Given the description of an element on the screen output the (x, y) to click on. 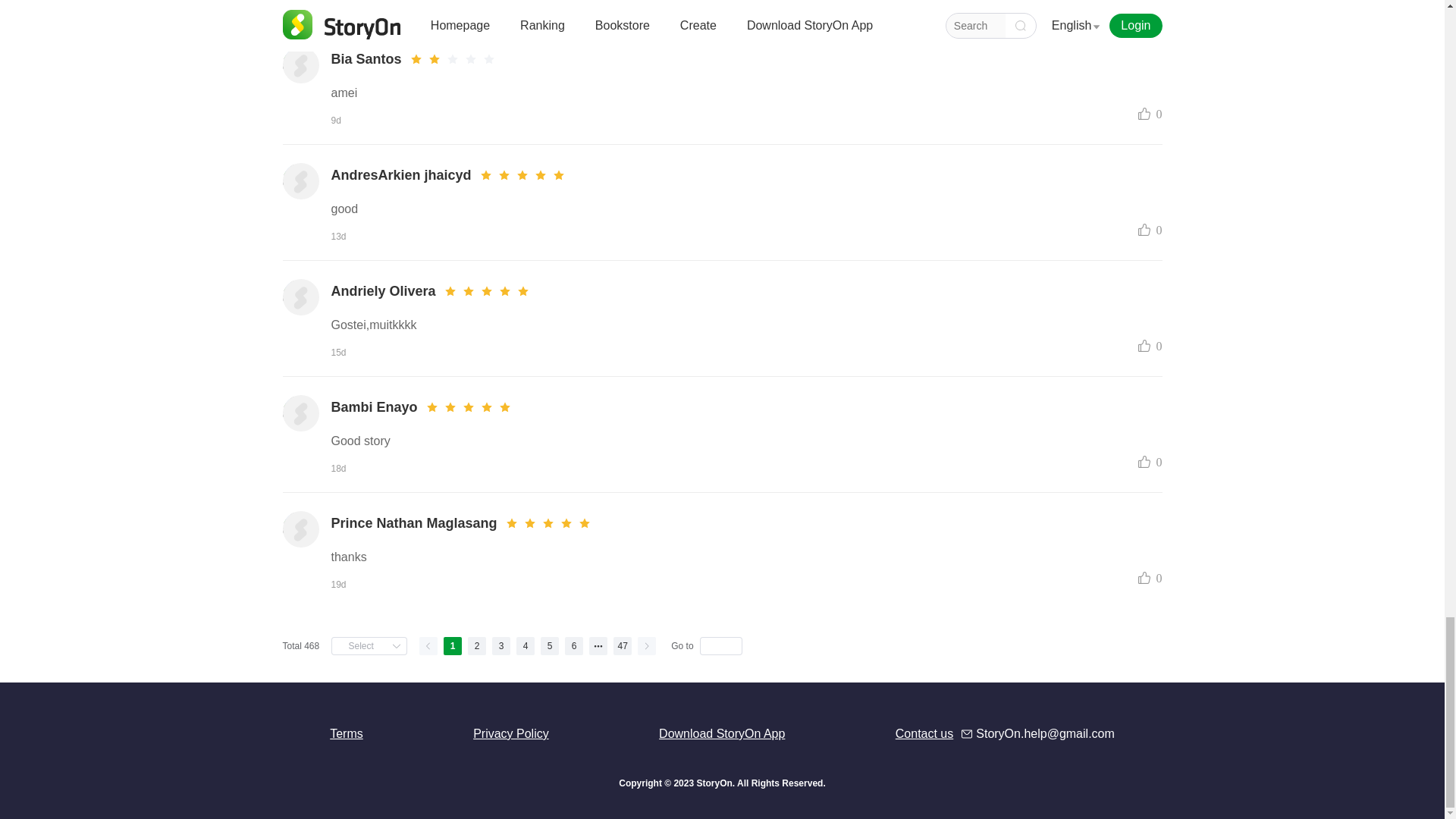
Terms (346, 734)
